Given the description of an element on the screen output the (x, y) to click on. 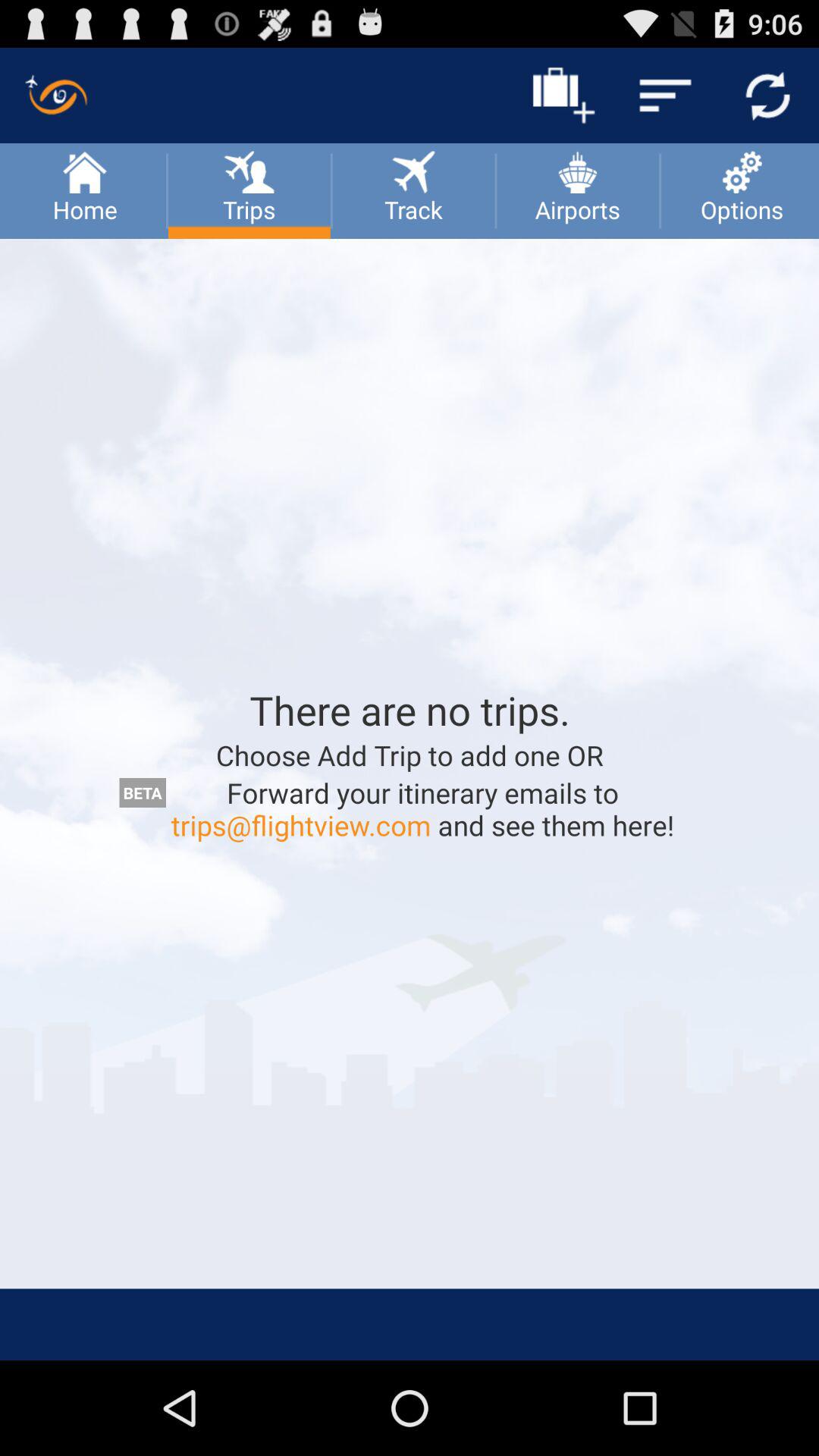
select the option which is on the top and above airports (562, 95)
go to the menu (665, 95)
click on the icon next  to home (249, 170)
click on icon below time (767, 95)
select the symbol which is above the home (55, 95)
click on the option which is next to airports (739, 190)
